Given the description of an element on the screen output the (x, y) to click on. 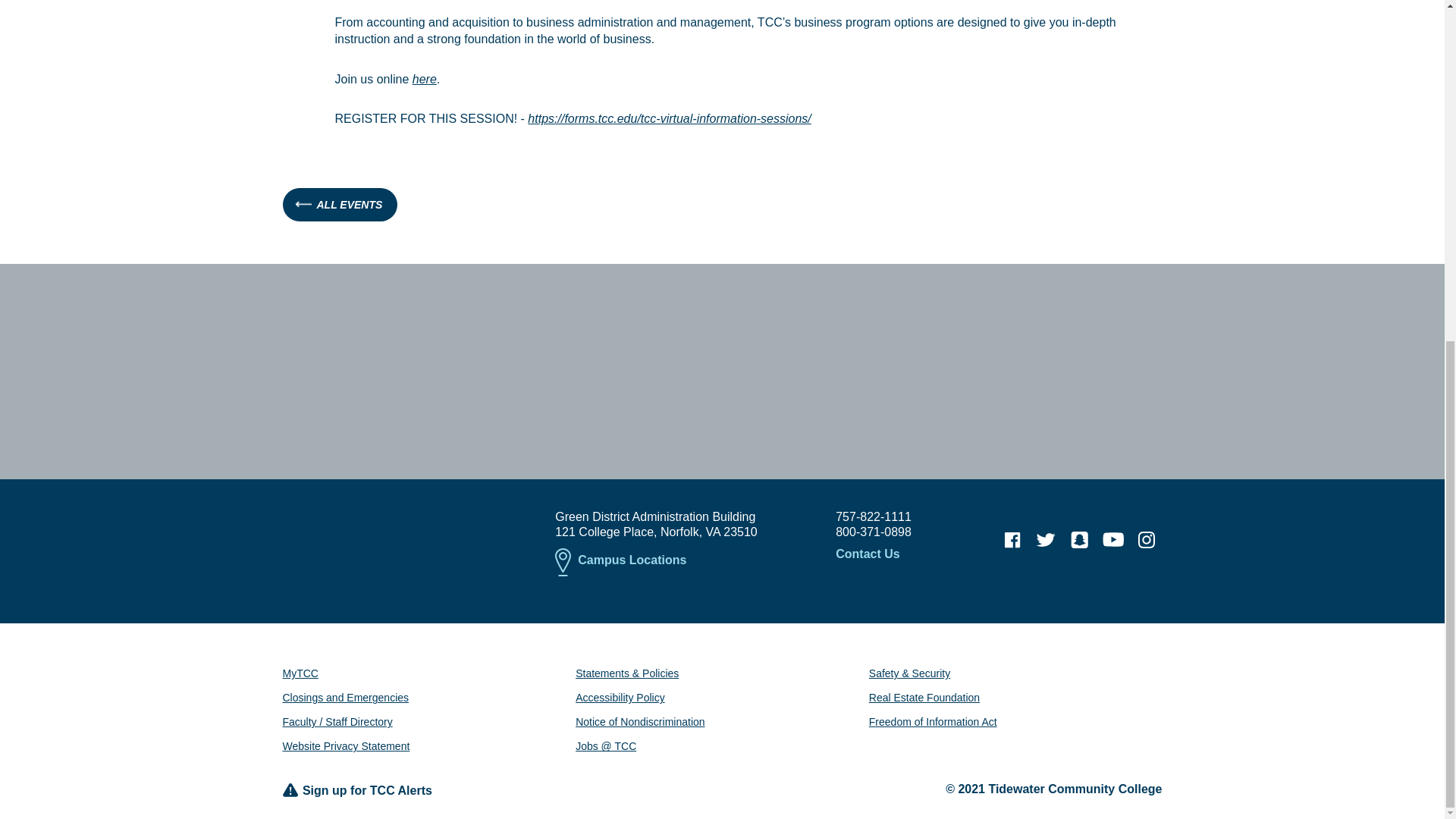
Tidewater Community College (398, 535)
TCC on Snapchat (1079, 539)
TCC on Facebook (1012, 539)
TCC on Twitter (1045, 539)
TCC on Instagram (1146, 539)
TCC on YouTube (1112, 539)
